Given the description of an element on the screen output the (x, y) to click on. 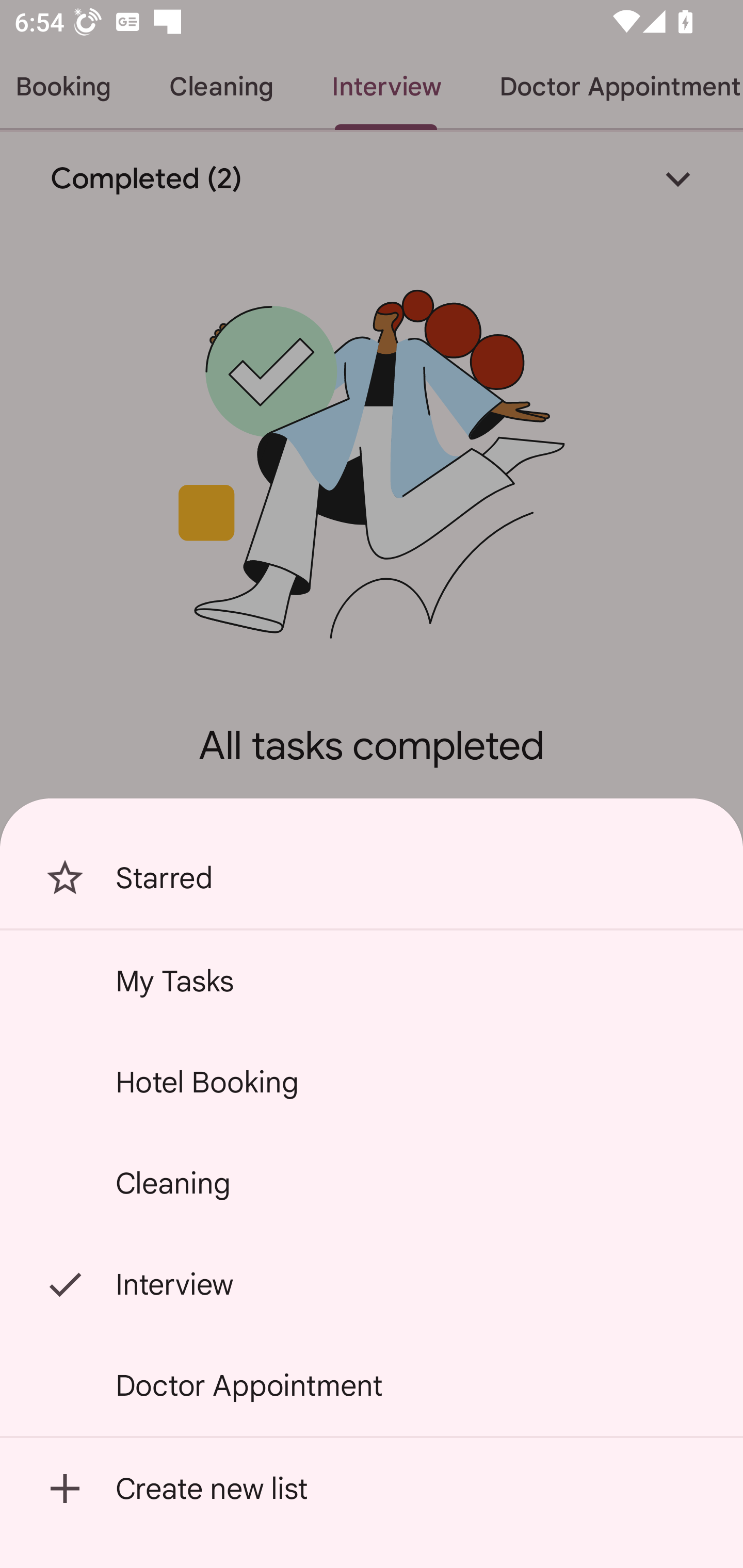
Starred (371, 877)
My Tasks (371, 980)
Hotel Booking (371, 1081)
Cleaning (371, 1183)
Interview (371, 1284)
Doctor Appointment (371, 1385)
Create new list (371, 1488)
